Given the description of an element on the screen output the (x, y) to click on. 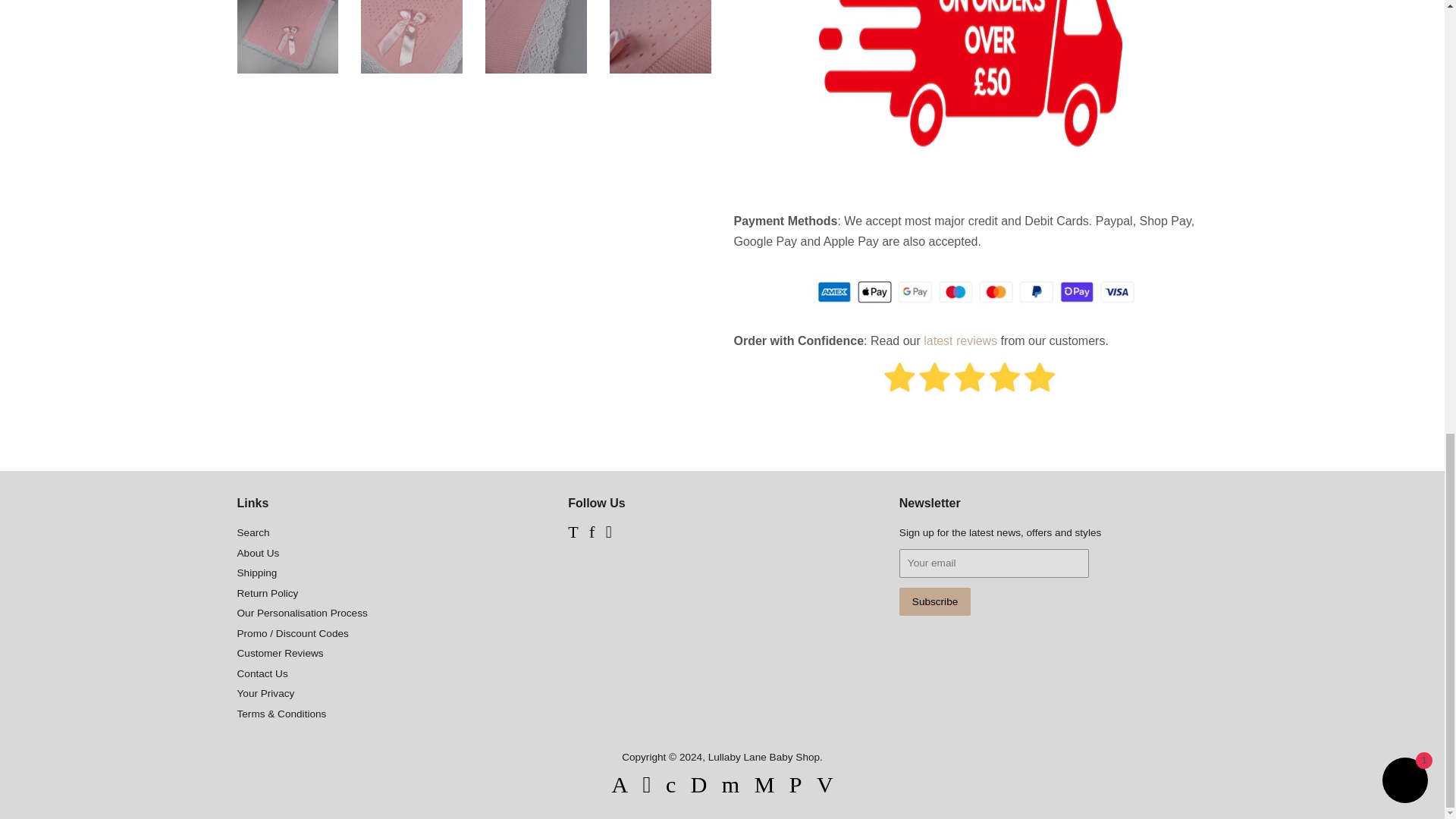
Subscribe (935, 601)
customer reviews (960, 340)
